Given the description of an element on the screen output the (x, y) to click on. 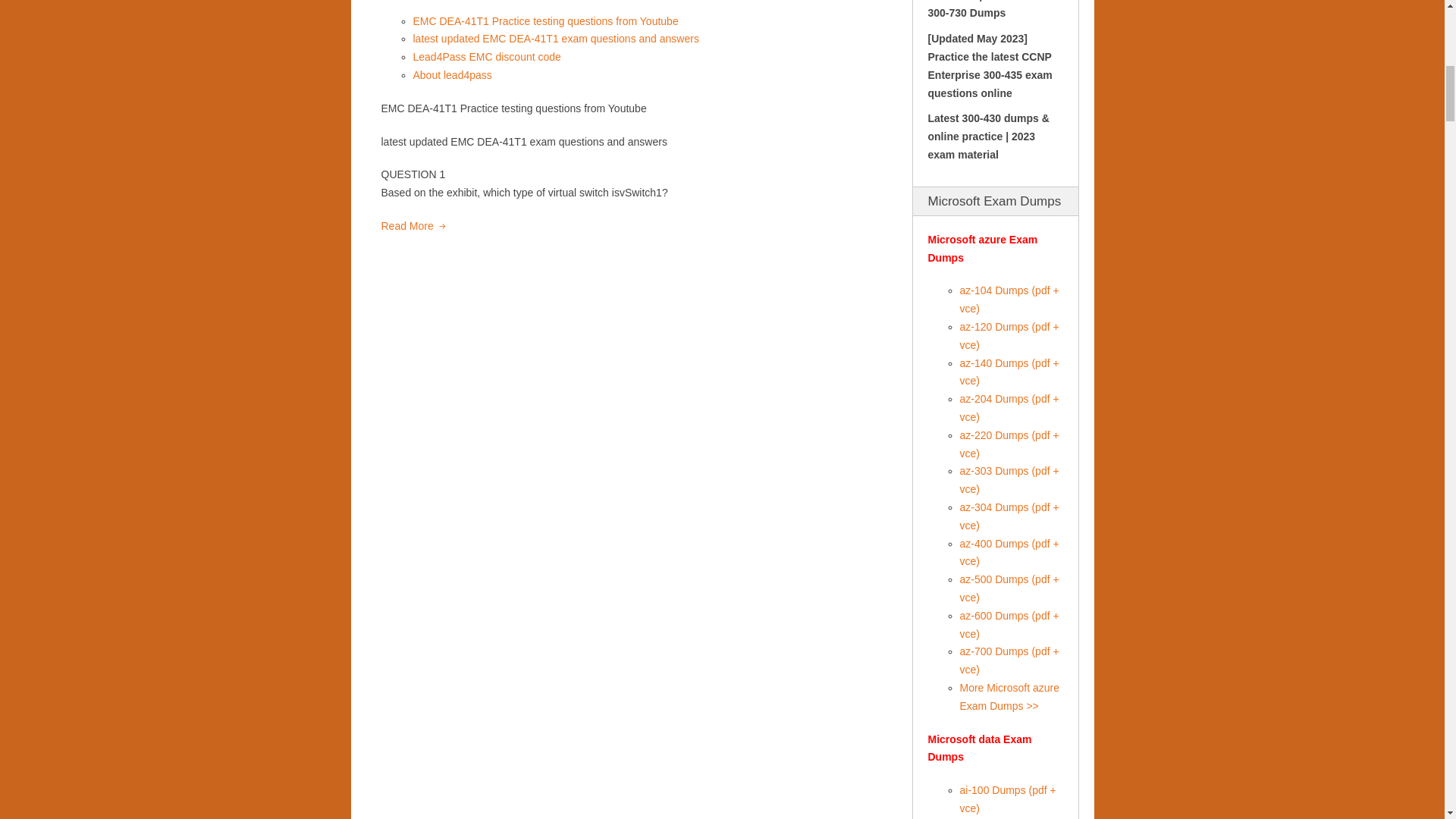
Lead4Pass EMC discount code (486, 56)
EMC DEA-41T1 Practice testing questions from Youtube (545, 21)
latest updated EMC DEA-41T1 exam questions and answers (555, 38)
About lead4pass (452, 74)
Read More (413, 226)
